Given the description of an element on the screen output the (x, y) to click on. 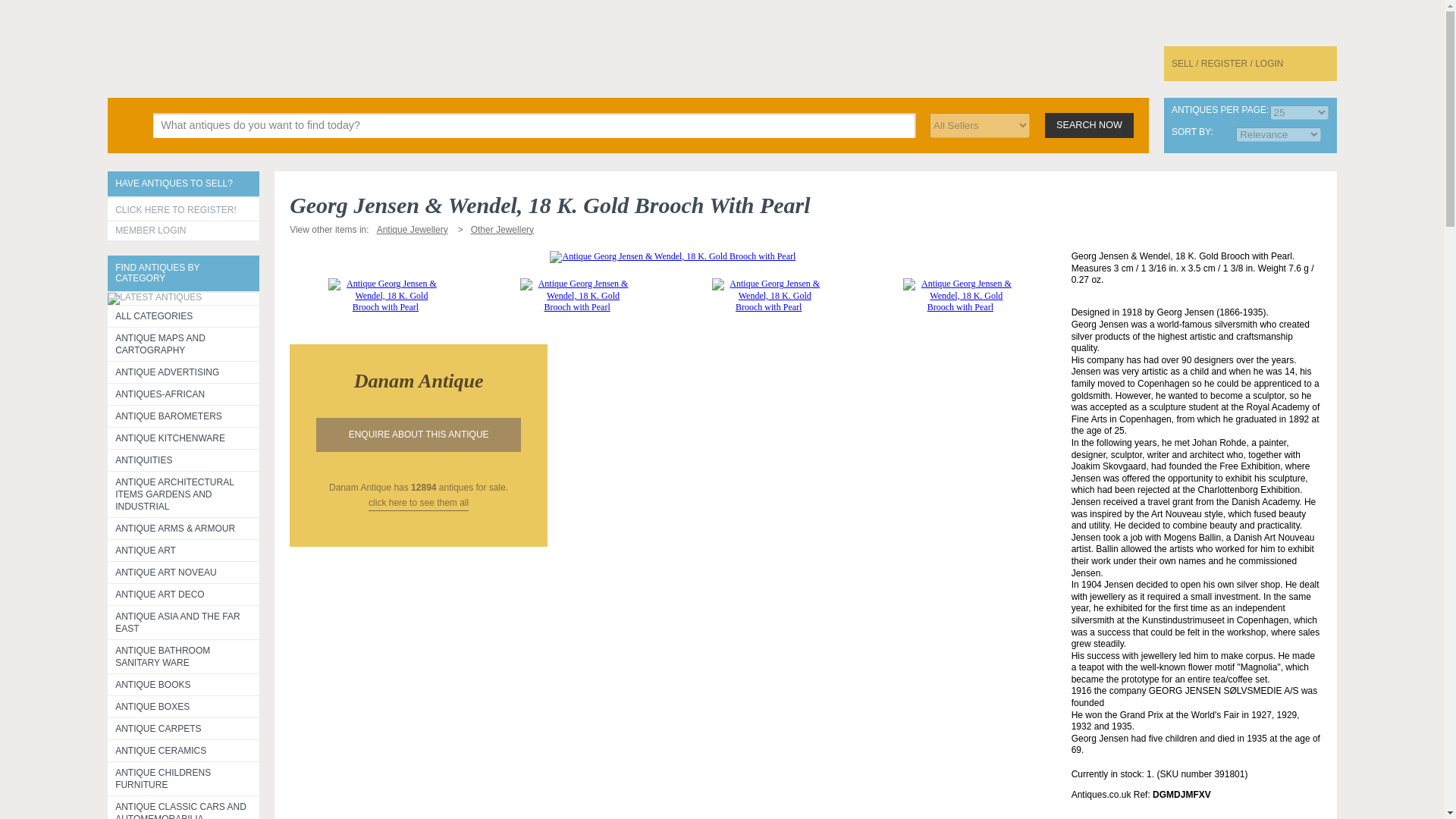
ANTIQUE CARPETS (183, 728)
ANTIQUE BOOKS (183, 684)
ANTIQUE ART (183, 550)
ANTIQUE ART DECO (183, 594)
ANTIQUE ART NOVEAU (183, 572)
ANTIQUE BAROMETERS (183, 415)
MEMBER LOGIN (183, 230)
ANTIQUITIES (183, 459)
ANTIQUE BATHROOM SANITARY WARE (183, 656)
ANTIQUE ADVERTISING (183, 372)
ANTIQUE CHILDRENS FURNITURE (183, 778)
ANTIQUES-AFRICAN (183, 394)
ANTIQUE KITCHENWARE (183, 437)
ANTIQUE MAPS AND CARTOGRAPHY (183, 344)
ALL CATEGORIES (183, 315)
